Given the description of an element on the screen output the (x, y) to click on. 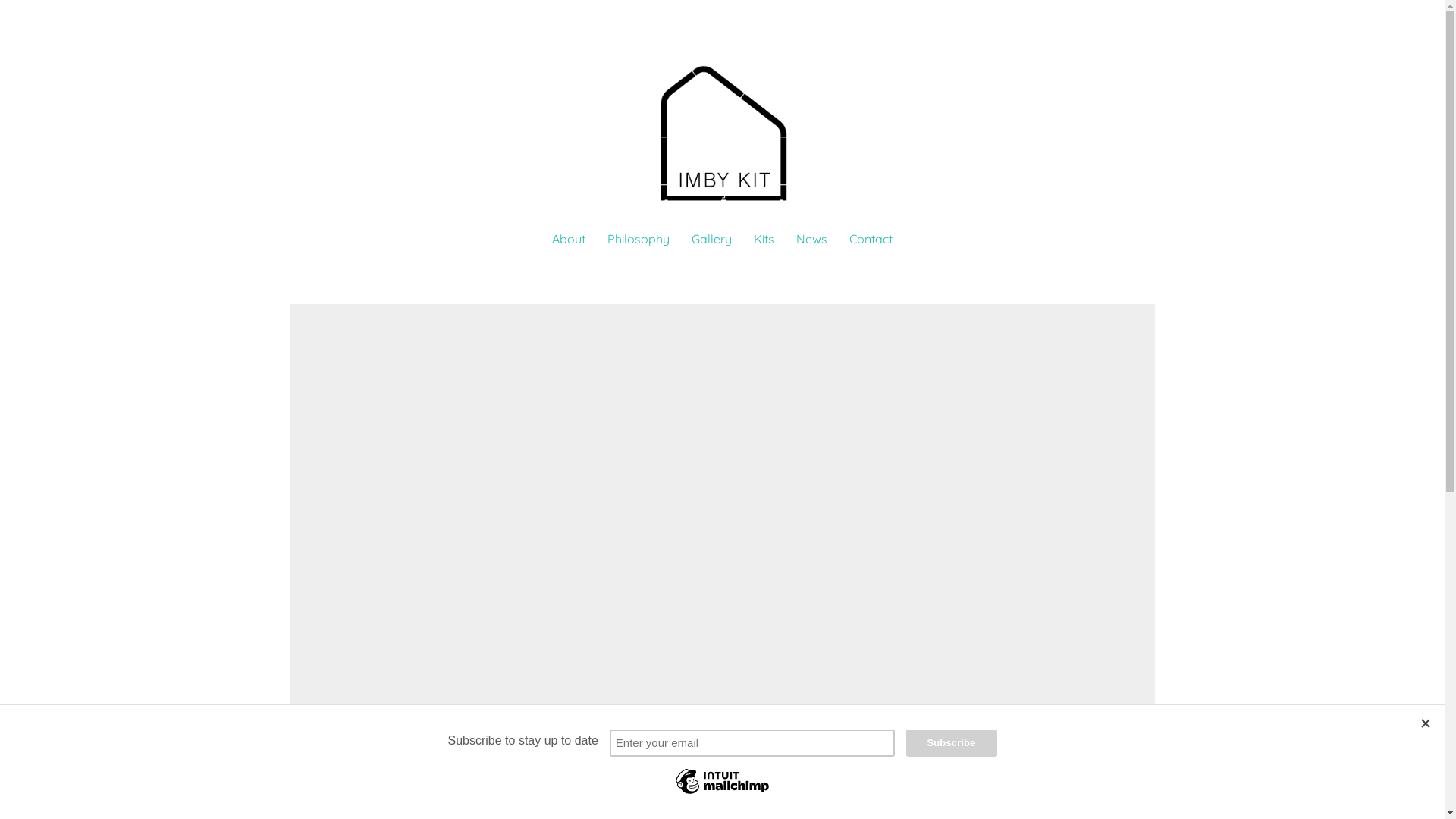
Contact Element type: text (870, 239)
News Element type: text (811, 239)
Kits Element type: text (763, 239)
Philosophy Element type: text (638, 239)
Gallery Element type: text (711, 239)
About Element type: text (568, 239)
